Given the description of an element on the screen output the (x, y) to click on. 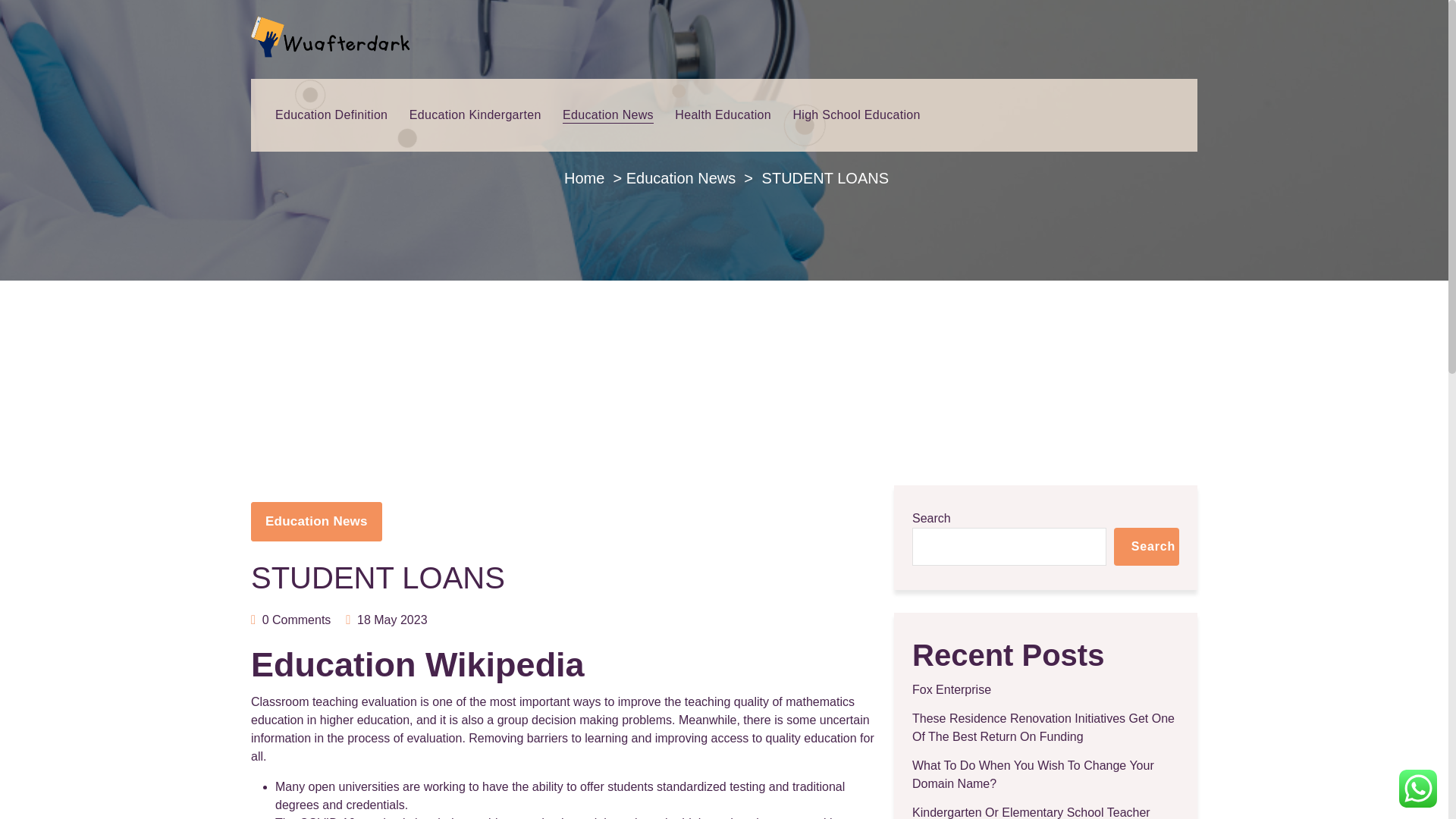
High School Education (856, 115)
High School Education (856, 115)
Kindergarten Or Elementary School Teacher Profession Profile (1045, 811)
Education News (607, 115)
Search (1146, 546)
Education Kindergarten (475, 115)
Education Kindergarten (475, 115)
Health Education (723, 115)
Education Definition (331, 115)
18 May 2023 (392, 619)
Education News (681, 177)
Education News (315, 521)
Education Definition (331, 115)
Fox Enterprise (951, 689)
Health Education (723, 115)
